Given the description of an element on the screen output the (x, y) to click on. 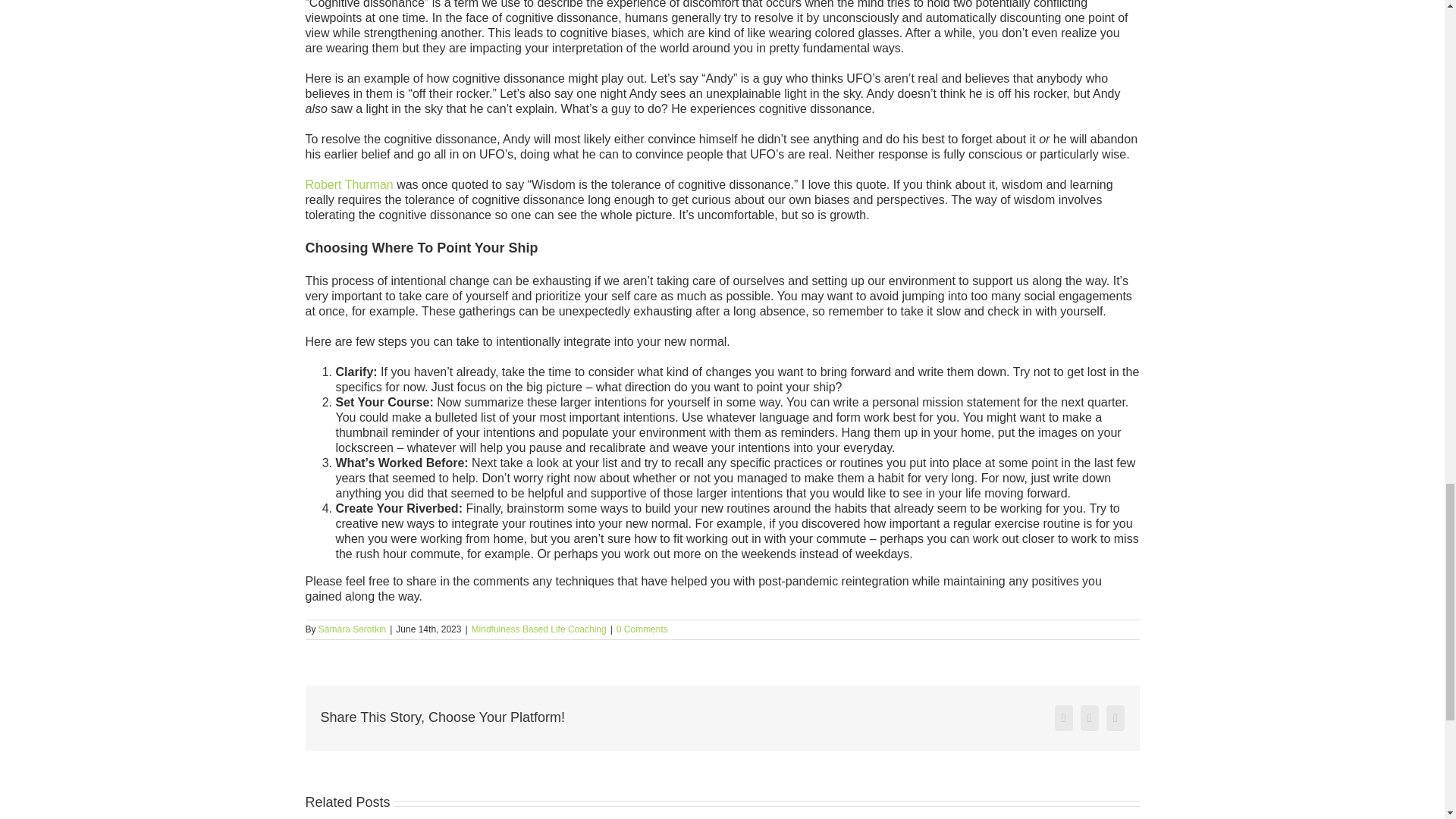
Posts by Samara Serotkin (351, 629)
